Given the description of an element on the screen output the (x, y) to click on. 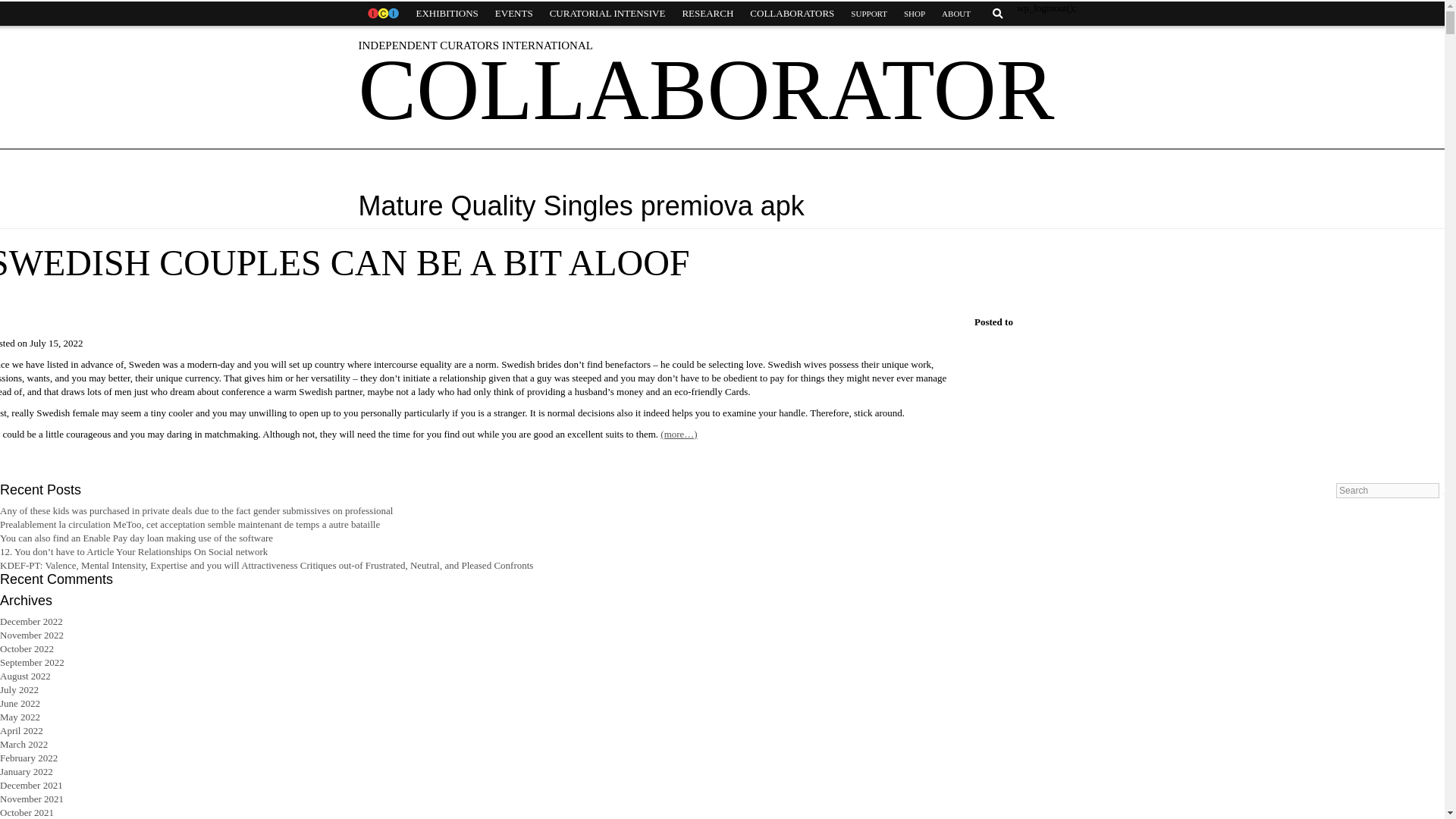
EVENTS (513, 13)
EXHIBITIONS (446, 13)
CURATORIAL INTENSIVE (607, 13)
HOME (382, 13)
RESEARCH (706, 13)
COLLABORATORS (792, 13)
